Given the description of an element on the screen output the (x, y) to click on. 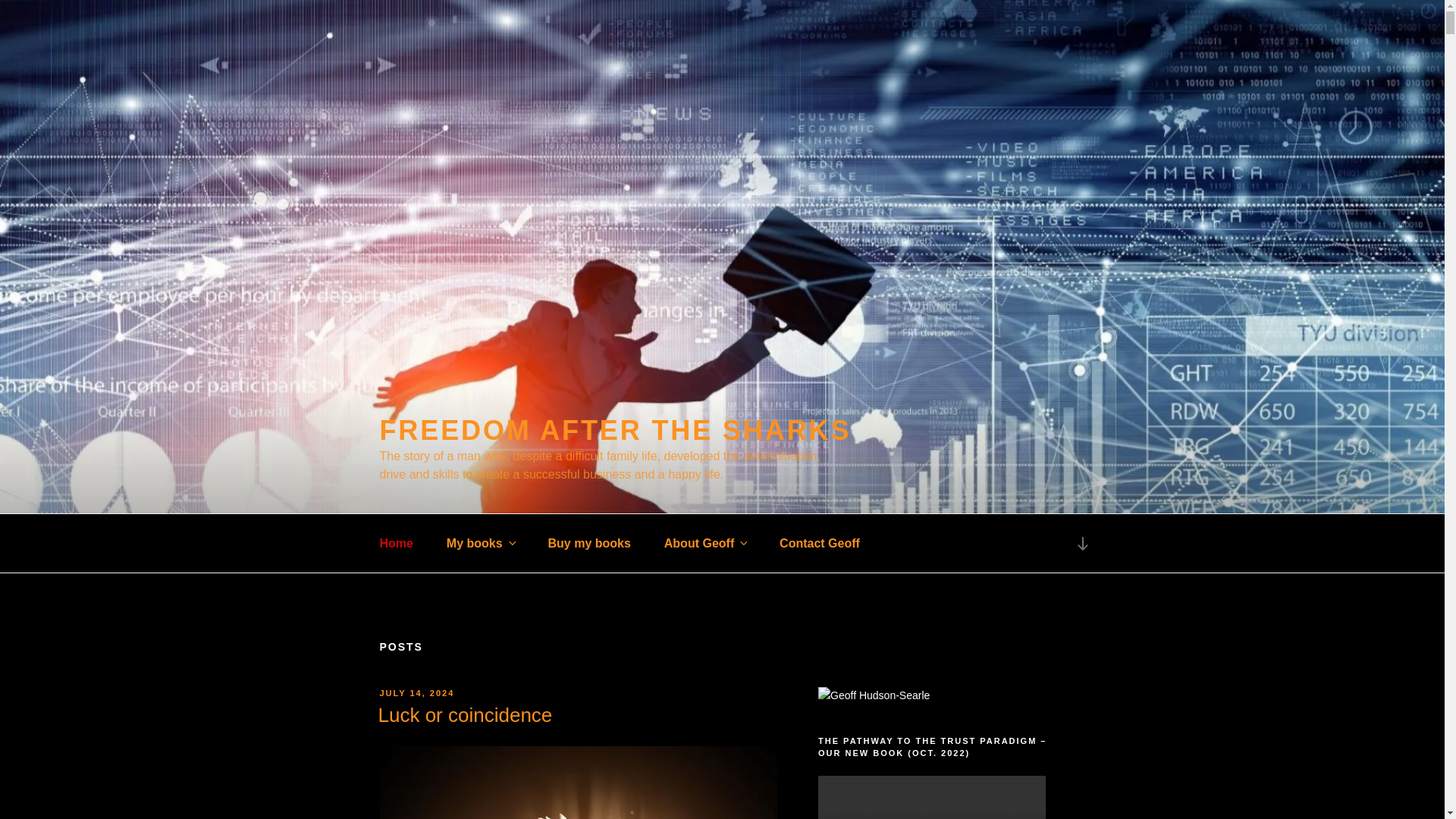
JULY 14, 2024 (416, 692)
Scroll down to content (1081, 543)
Home (396, 542)
FREEDOM AFTER THE SHARKS (614, 429)
My books (479, 542)
About Geoff (705, 542)
Contact Geoff (819, 542)
Buy my books (589, 542)
Scroll down to content (1081, 543)
Luck or coincidence (464, 714)
